Given the description of an element on the screen output the (x, y) to click on. 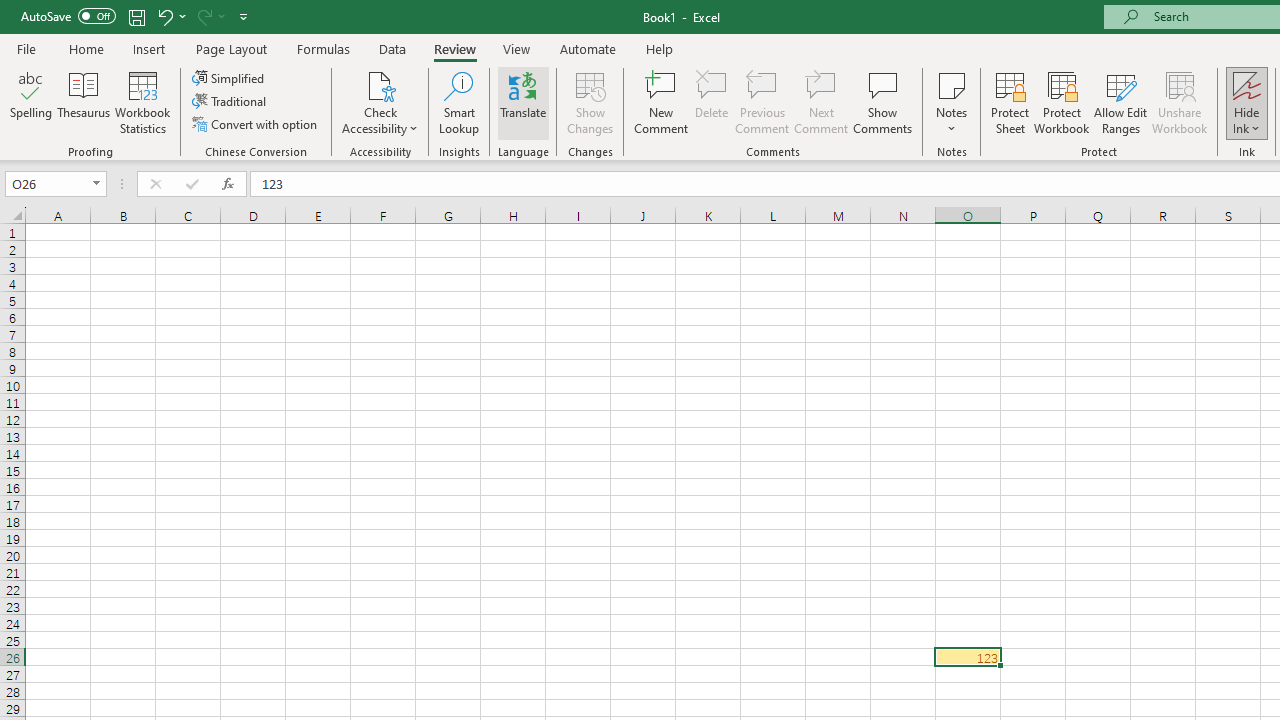
Convert with option (256, 124)
Protect Workbook... (1061, 102)
Smart Lookup (459, 102)
Protect Sheet... (1010, 102)
